Given the description of an element on the screen output the (x, y) to click on. 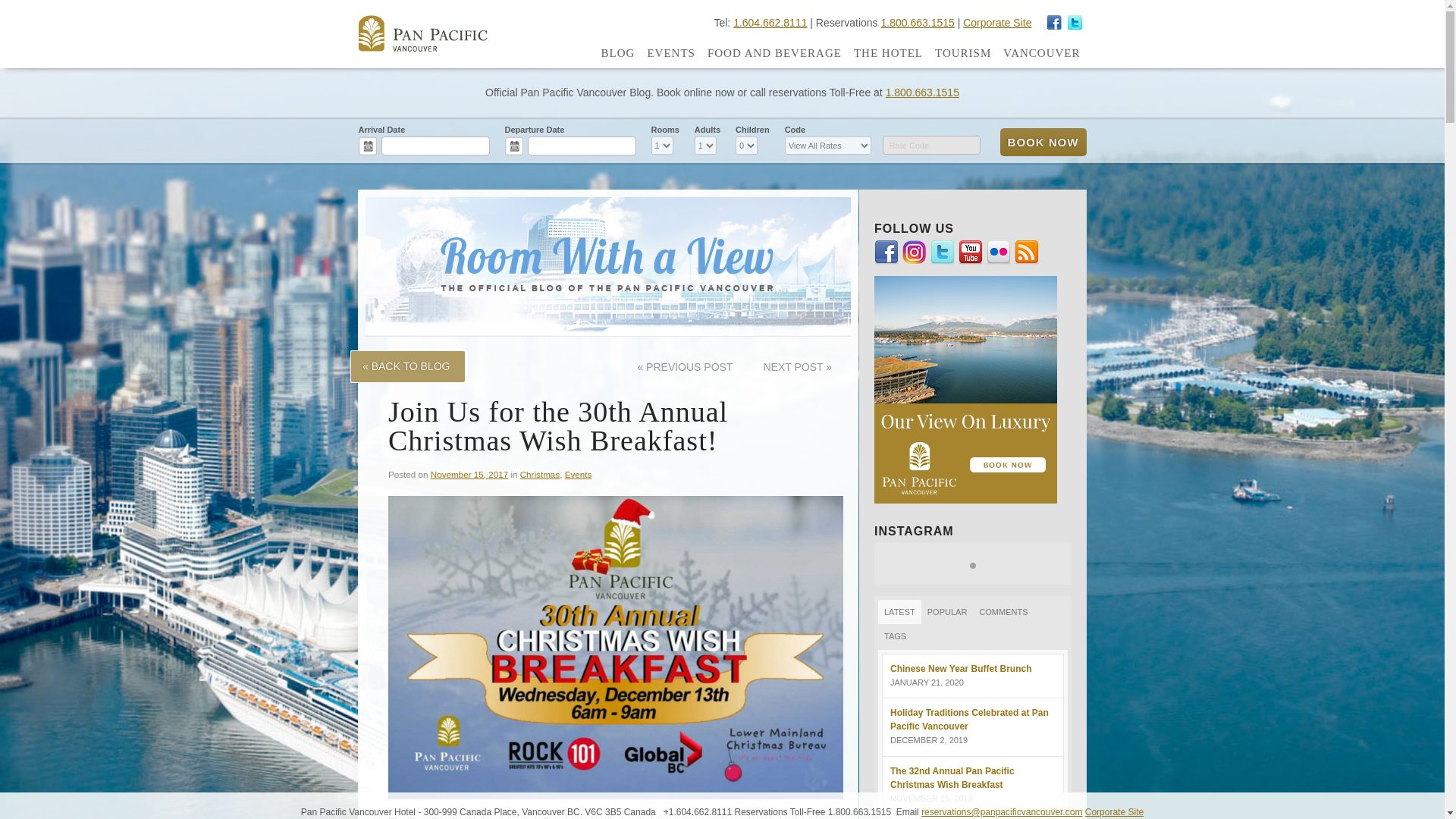
1.800.663.1515 (922, 92)
Corporate Site (996, 22)
... (366, 145)
The 32nd Annual Pan Pacific Christmas Wish Breakfast (951, 777)
FOOD AND BEVERAGE (774, 52)
Chinese New Year Buffet Brunch (960, 668)
googleplus (1053, 22)
1.604.662.8111 (769, 22)
Instagram (1075, 22)
Book Now (1042, 141)
... (513, 145)
Christmas (539, 474)
3:28 pm (469, 474)
1.800.663.1515 (916, 22)
BLOG (617, 52)
